Given the description of an element on the screen output the (x, y) to click on. 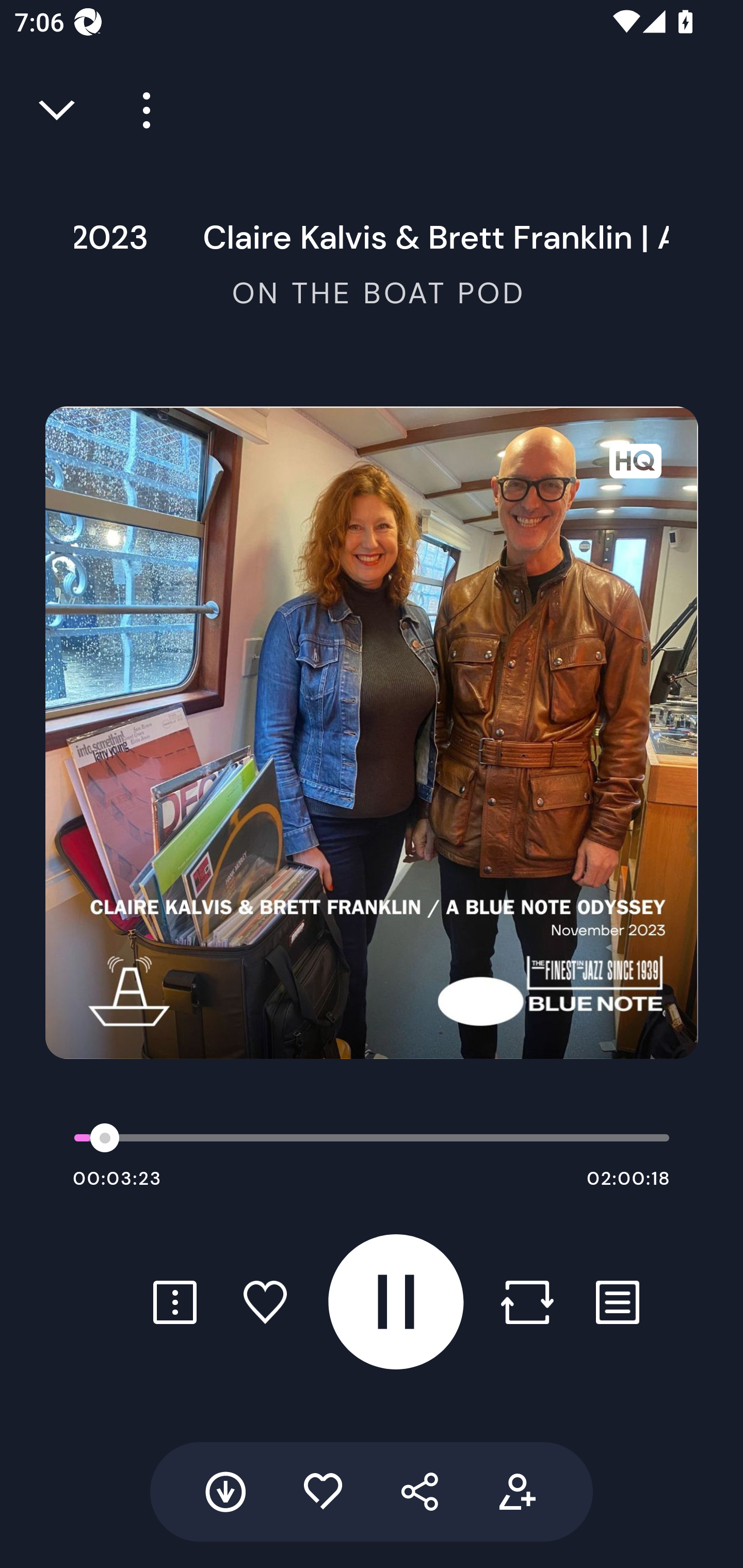
Close full player (58, 110)
Player more options button (139, 110)
Repost button (527, 1301)
